Given the description of an element on the screen output the (x, y) to click on. 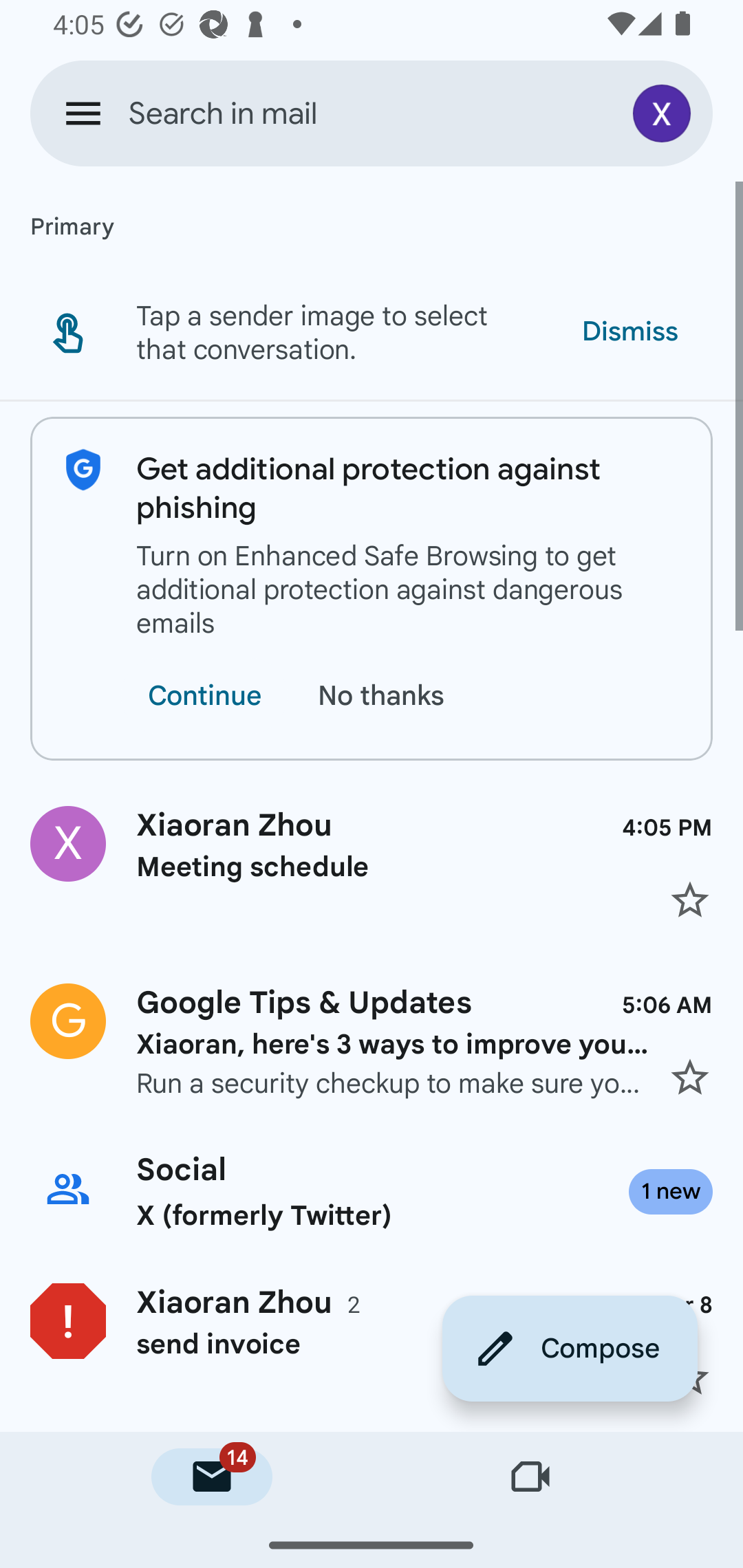
Open navigation drawer (82, 112)
Dismiss Dismiss tip (629, 331)
Continue (204, 695)
No thanks (385, 695)
Social X (formerly Twitter) 1 new (371, 1191)
Compose (569, 1348)
Meet (530, 1476)
